Given the description of an element on the screen output the (x, y) to click on. 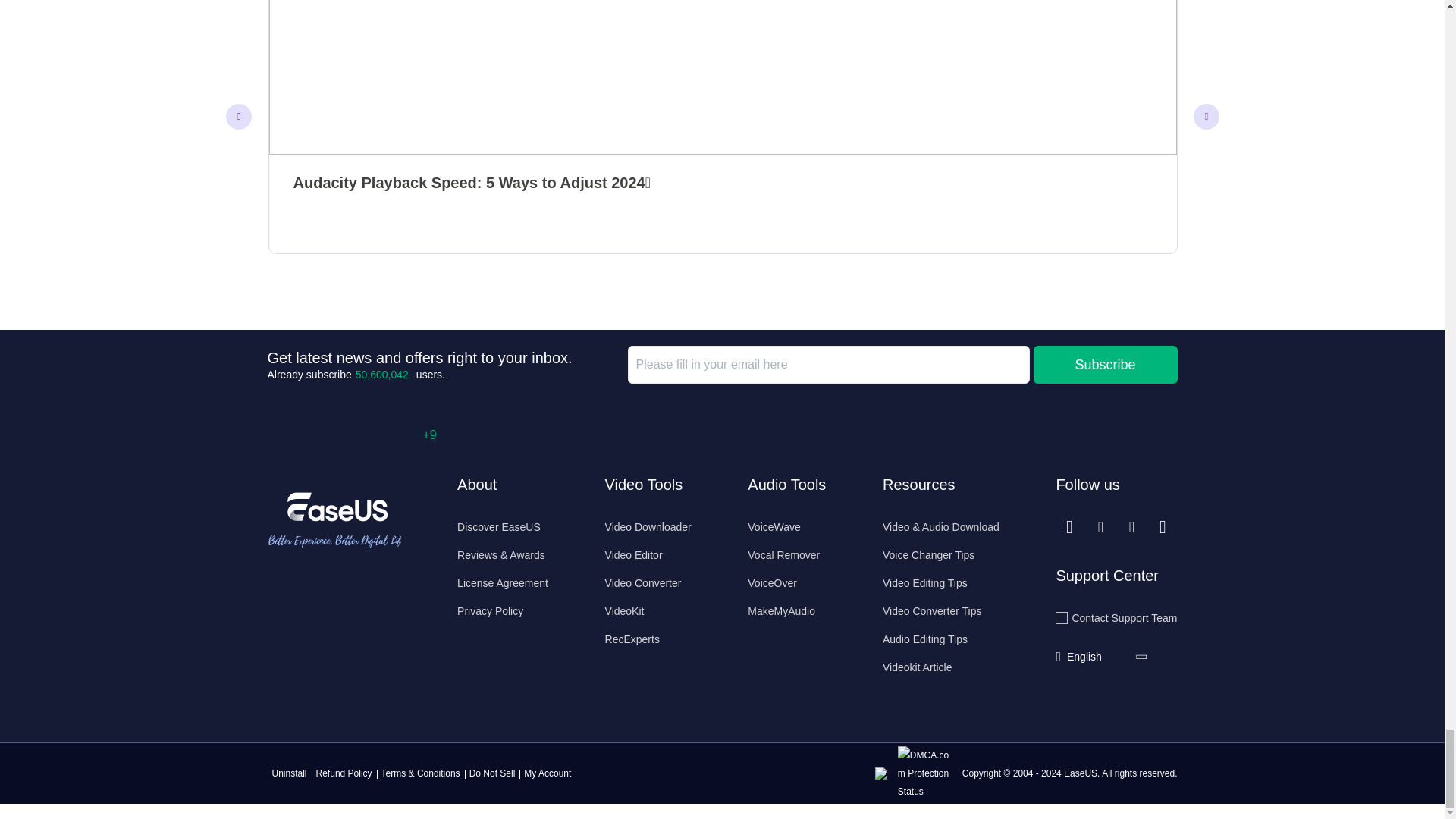
DMCA.com Protection Status (928, 772)
